Given the description of an element on the screen output the (x, y) to click on. 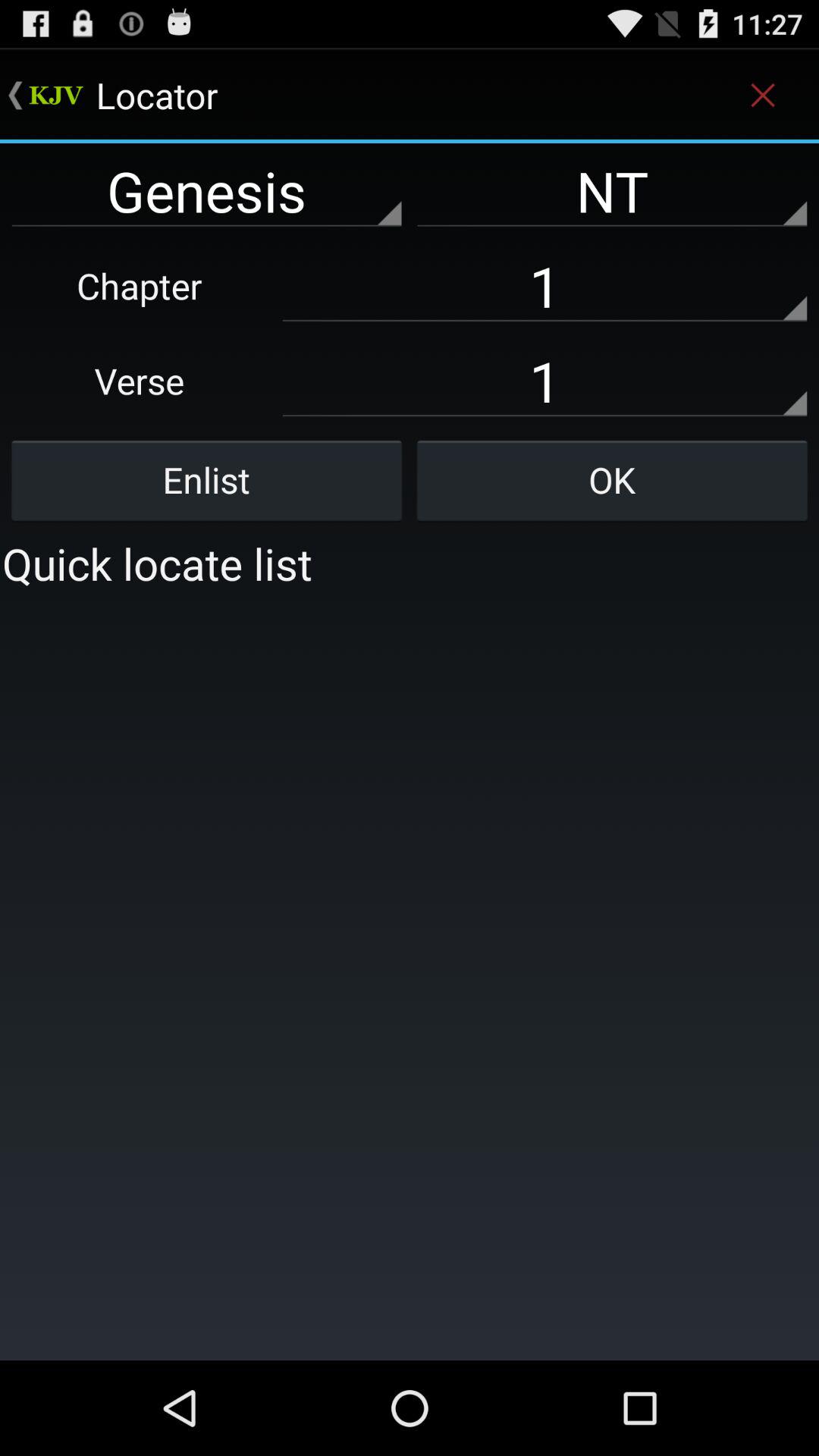
select icon to the left of the ok icon (206, 479)
